Given the description of an element on the screen output the (x, y) to click on. 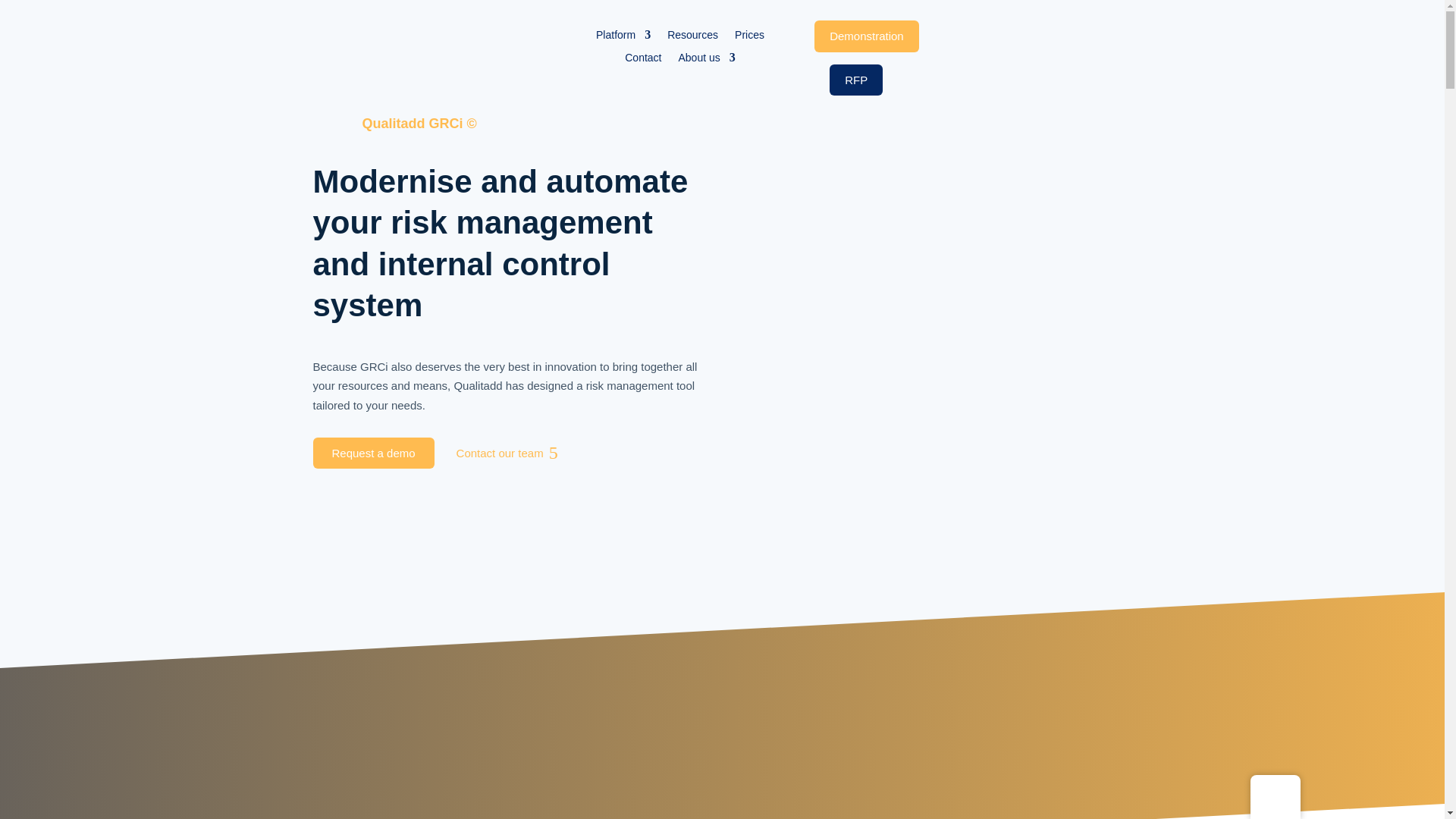
Contact (642, 60)
RFP (855, 80)
logo-qualitadd-dark (520, 28)
Platform (622, 37)
Request a demo (373, 453)
Resources (691, 37)
Demonstration (865, 36)
Prices (749, 37)
Contact our team (500, 453)
About us (706, 60)
